Given the description of an element on the screen output the (x, y) to click on. 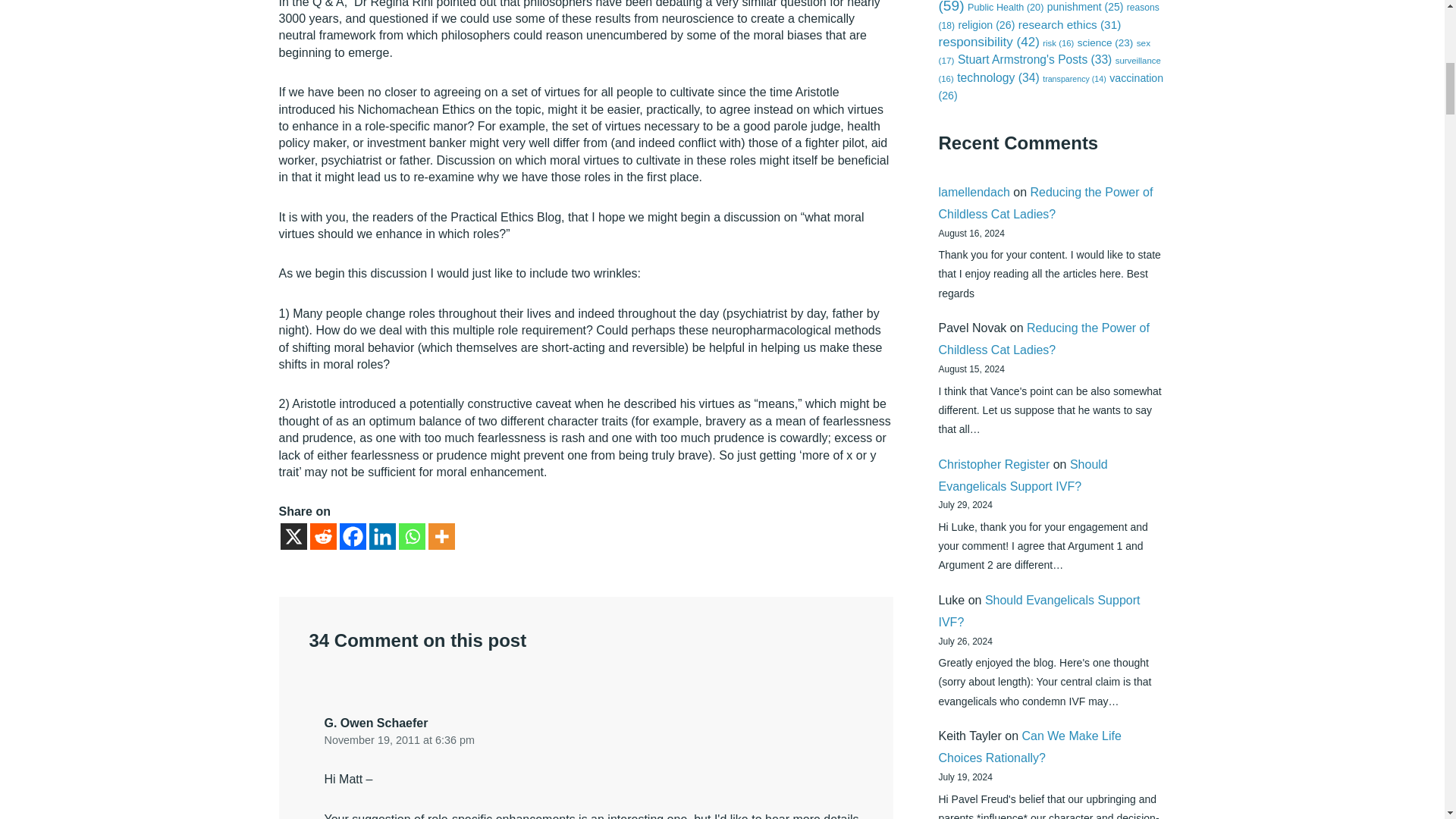
Linkedin (381, 536)
More (441, 536)
Facebook (352, 536)
Whatsapp (411, 536)
November 19, 2011 at 6:36 pm (399, 740)
Reddit (322, 536)
X (294, 536)
